Given the description of an element on the screen output the (x, y) to click on. 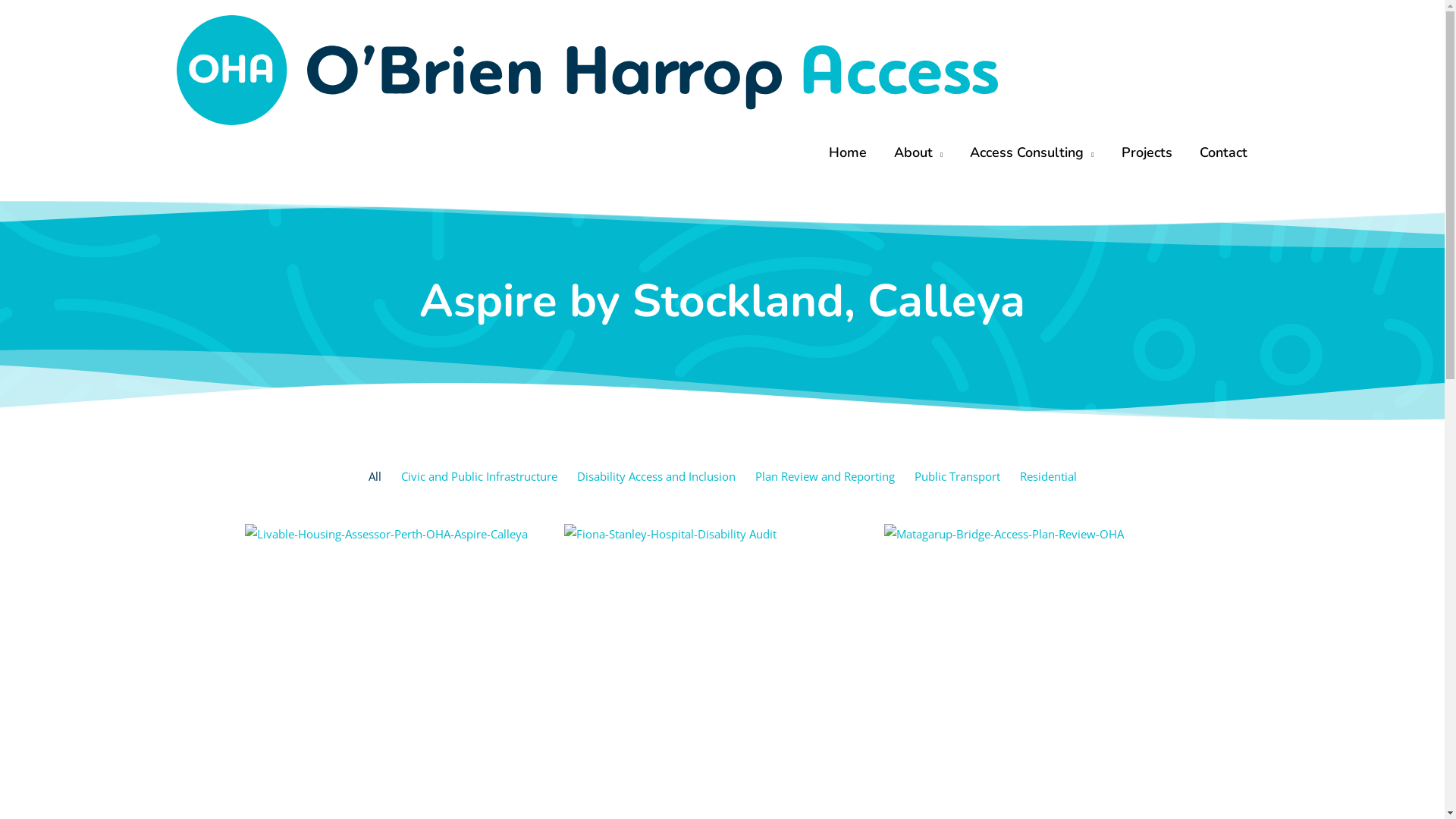
Access Consulting Element type: text (1031, 152)
Home Element type: text (847, 152)
Projects Element type: text (1146, 152)
Contact Element type: text (1223, 152)
About Element type: text (918, 152)
